Given the description of an element on the screen output the (x, y) to click on. 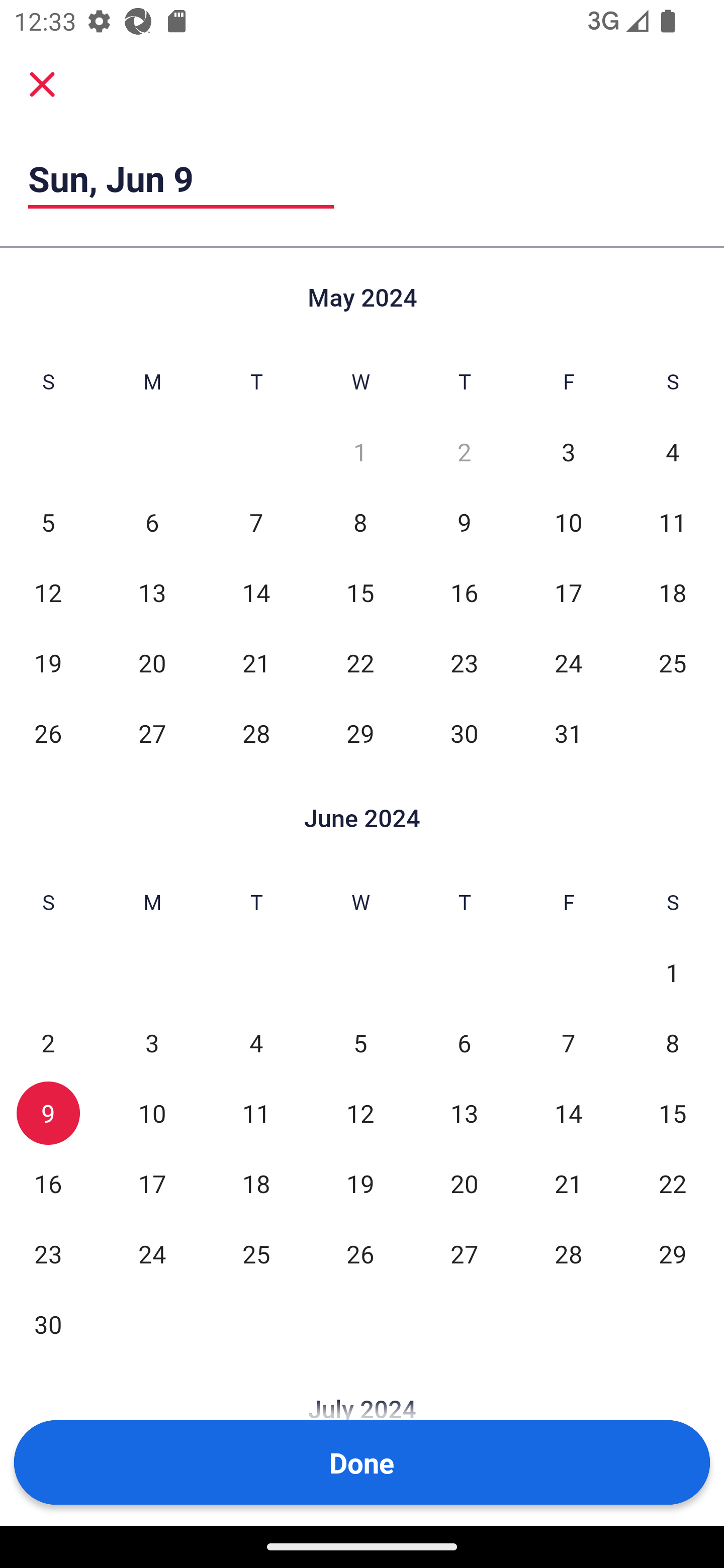
Cancel (42, 84)
Sun, Jun 9 (180, 178)
1 Wed, May 1, Not Selected (360, 452)
2 Thu, May 2, Not Selected (464, 452)
3 Fri, May 3, Not Selected (568, 452)
4 Sat, May 4, Not Selected (672, 452)
5 Sun, May 5, Not Selected (48, 521)
6 Mon, May 6, Not Selected (152, 521)
7 Tue, May 7, Not Selected (256, 521)
8 Wed, May 8, Not Selected (360, 521)
9 Thu, May 9, Not Selected (464, 521)
10 Fri, May 10, Not Selected (568, 521)
11 Sat, May 11, Not Selected (672, 521)
12 Sun, May 12, Not Selected (48, 591)
13 Mon, May 13, Not Selected (152, 591)
14 Tue, May 14, Not Selected (256, 591)
15 Wed, May 15, Not Selected (360, 591)
16 Thu, May 16, Not Selected (464, 591)
17 Fri, May 17, Not Selected (568, 591)
18 Sat, May 18, Not Selected (672, 591)
19 Sun, May 19, Not Selected (48, 662)
20 Mon, May 20, Not Selected (152, 662)
21 Tue, May 21, Not Selected (256, 662)
22 Wed, May 22, Not Selected (360, 662)
23 Thu, May 23, Not Selected (464, 662)
24 Fri, May 24, Not Selected (568, 662)
25 Sat, May 25, Not Selected (672, 662)
26 Sun, May 26, Not Selected (48, 732)
27 Mon, May 27, Not Selected (152, 732)
28 Tue, May 28, Not Selected (256, 732)
29 Wed, May 29, Not Selected (360, 732)
30 Thu, May 30, Not Selected (464, 732)
31 Fri, May 31, Not Selected (568, 732)
1 Sat, Jun 1, Not Selected (672, 972)
2 Sun, Jun 2, Not Selected (48, 1043)
3 Mon, Jun 3, Not Selected (152, 1043)
4 Tue, Jun 4, Not Selected (256, 1043)
5 Wed, Jun 5, Not Selected (360, 1043)
6 Thu, Jun 6, Not Selected (464, 1043)
7 Fri, Jun 7, Not Selected (568, 1043)
8 Sat, Jun 8, Not Selected (672, 1043)
9 Sun, Jun 9, Selected (48, 1112)
10 Mon, Jun 10, Not Selected (152, 1112)
11 Tue, Jun 11, Not Selected (256, 1112)
12 Wed, Jun 12, Not Selected (360, 1112)
13 Thu, Jun 13, Not Selected (464, 1112)
14 Fri, Jun 14, Not Selected (568, 1112)
15 Sat, Jun 15, Not Selected (672, 1112)
16 Sun, Jun 16, Not Selected (48, 1182)
17 Mon, Jun 17, Not Selected (152, 1182)
18 Tue, Jun 18, Not Selected (256, 1182)
19 Wed, Jun 19, Not Selected (360, 1182)
20 Thu, Jun 20, Not Selected (464, 1182)
21 Fri, Jun 21, Not Selected (568, 1182)
22 Sat, Jun 22, Not Selected (672, 1182)
23 Sun, Jun 23, Not Selected (48, 1253)
24 Mon, Jun 24, Not Selected (152, 1253)
25 Tue, Jun 25, Not Selected (256, 1253)
26 Wed, Jun 26, Not Selected (360, 1253)
27 Thu, Jun 27, Not Selected (464, 1253)
28 Fri, Jun 28, Not Selected (568, 1253)
29 Sat, Jun 29, Not Selected (672, 1253)
30 Sun, Jun 30, Not Selected (48, 1323)
Done Button Done (361, 1462)
